Given the description of an element on the screen output the (x, y) to click on. 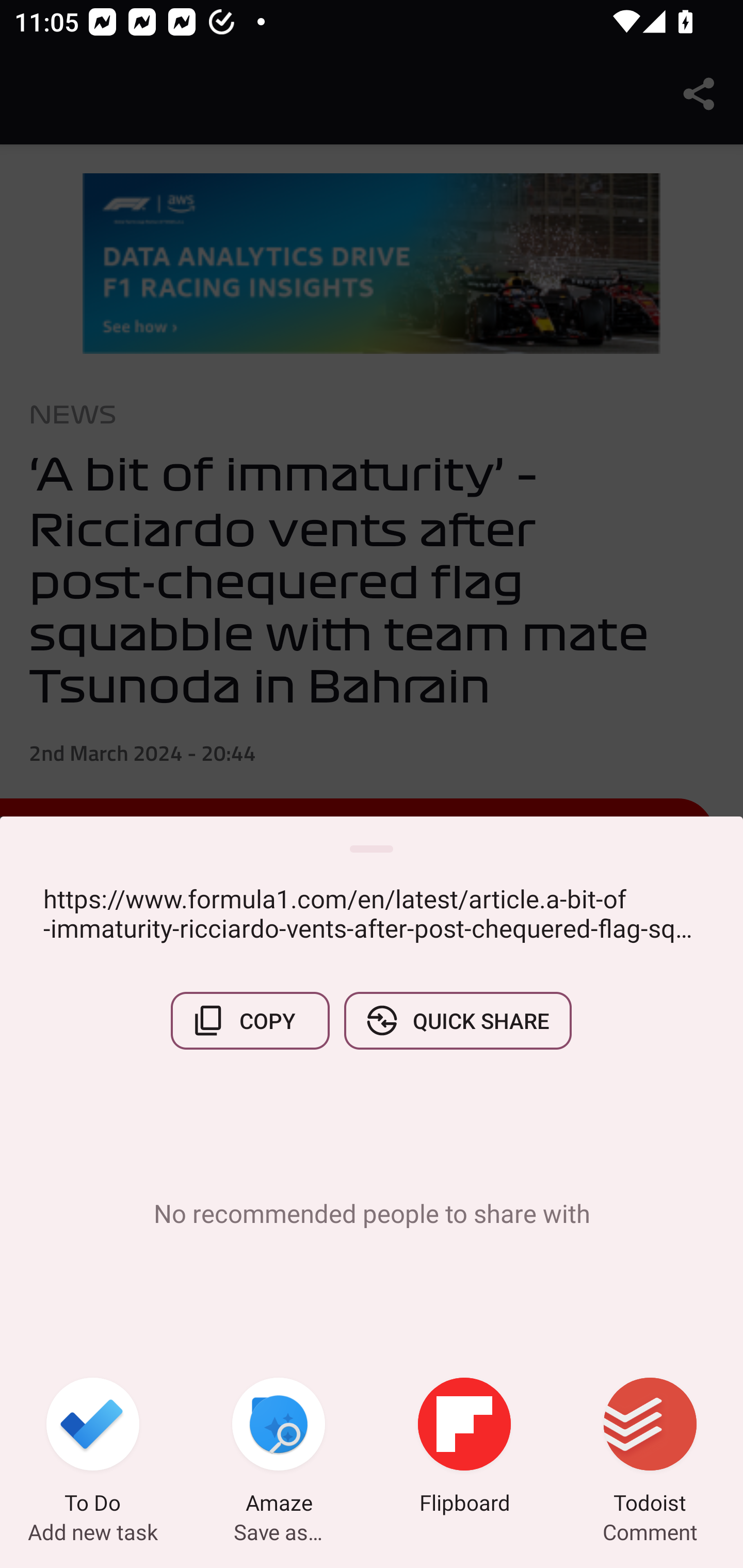
COPY (249, 1020)
QUICK SHARE (457, 1020)
To Do Add new task (92, 1448)
Amaze Save as… (278, 1448)
Flipboard (464, 1448)
Todoist Comment (650, 1448)
